Given the description of an element on the screen output the (x, y) to click on. 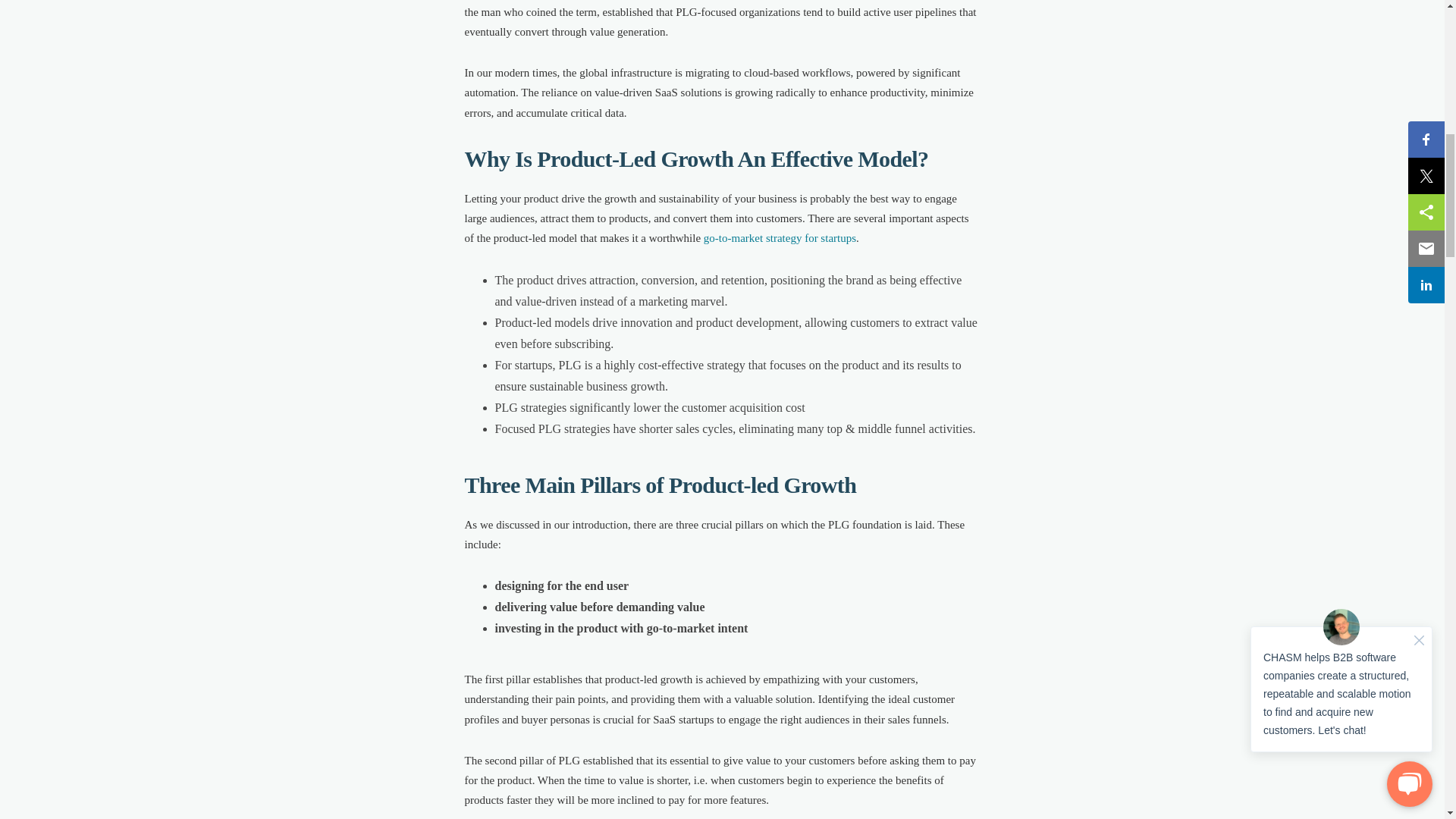
go-to-market strategy for startups (779, 237)
